Given the description of an element on the screen output the (x, y) to click on. 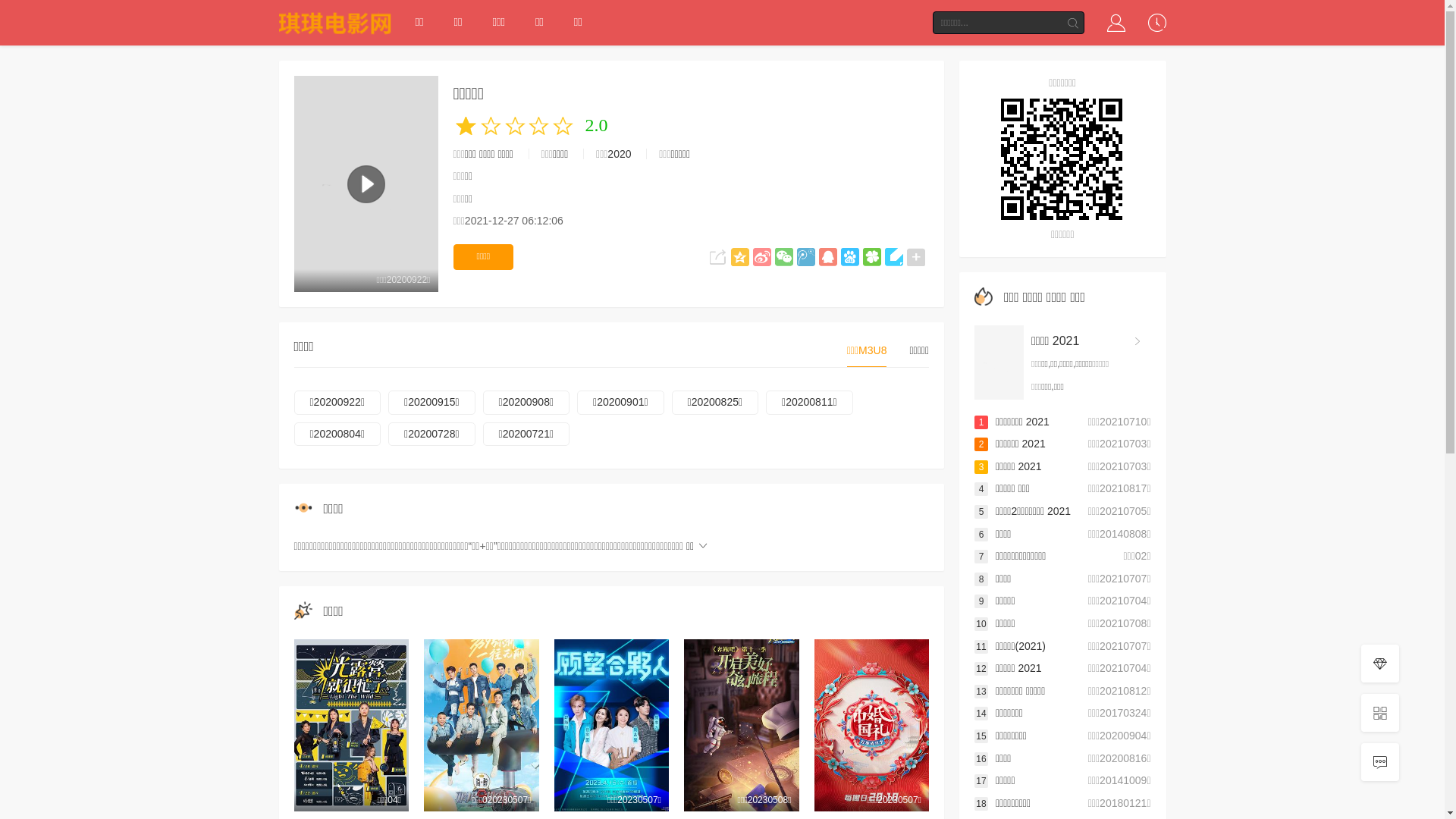
https://dyku.cc/movies/23606.html Element type: hover (1062, 158)
2020 Element type: text (618, 153)
